Given the description of an element on the screen output the (x, y) to click on. 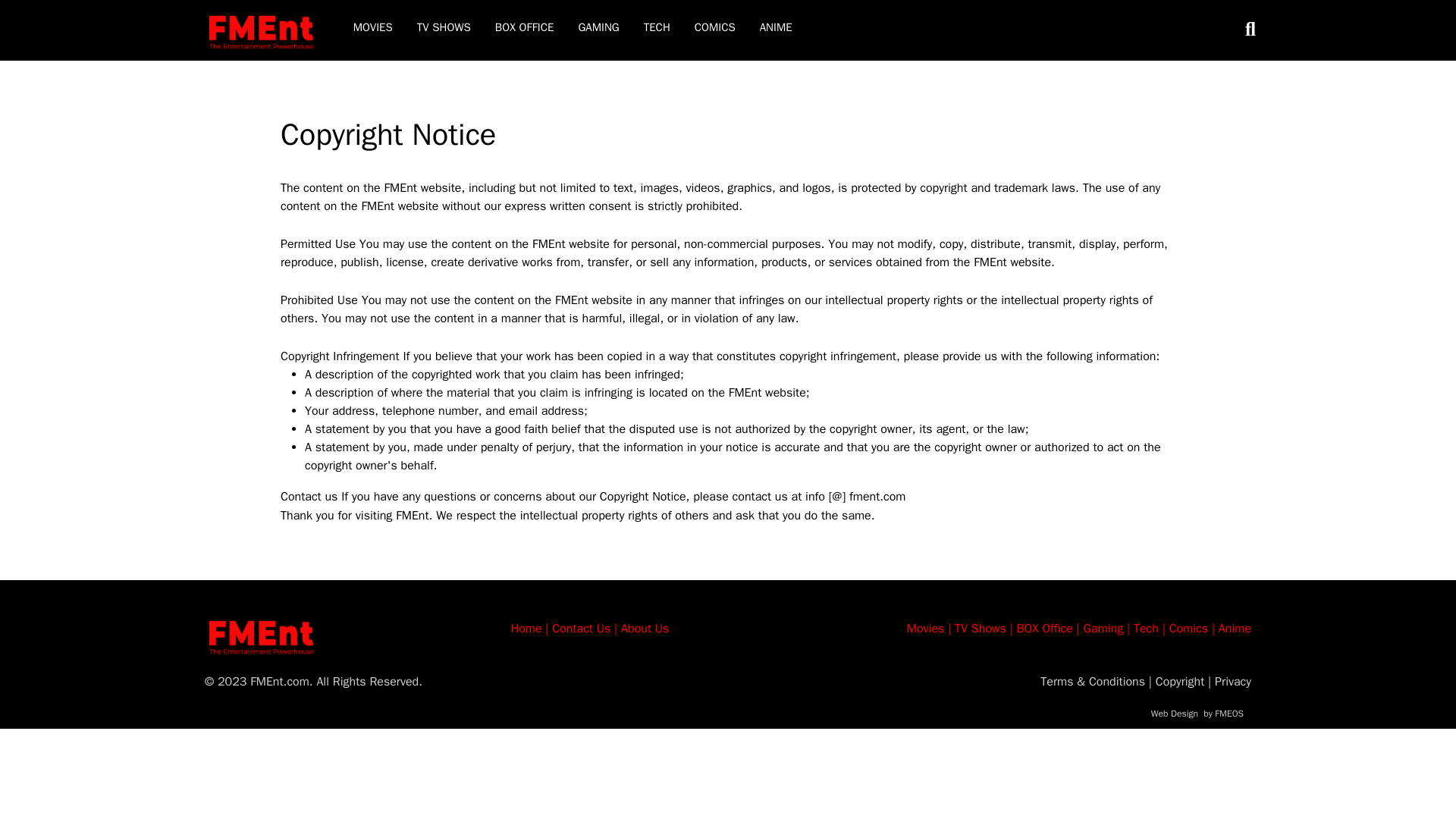
Contact Us (580, 628)
GAMING (598, 27)
COMICS (714, 27)
BOX OFFICE (524, 27)
MOVIES (372, 27)
Home (526, 628)
ANIME (775, 27)
TV SHOWS (443, 27)
